Given the description of an element on the screen output the (x, y) to click on. 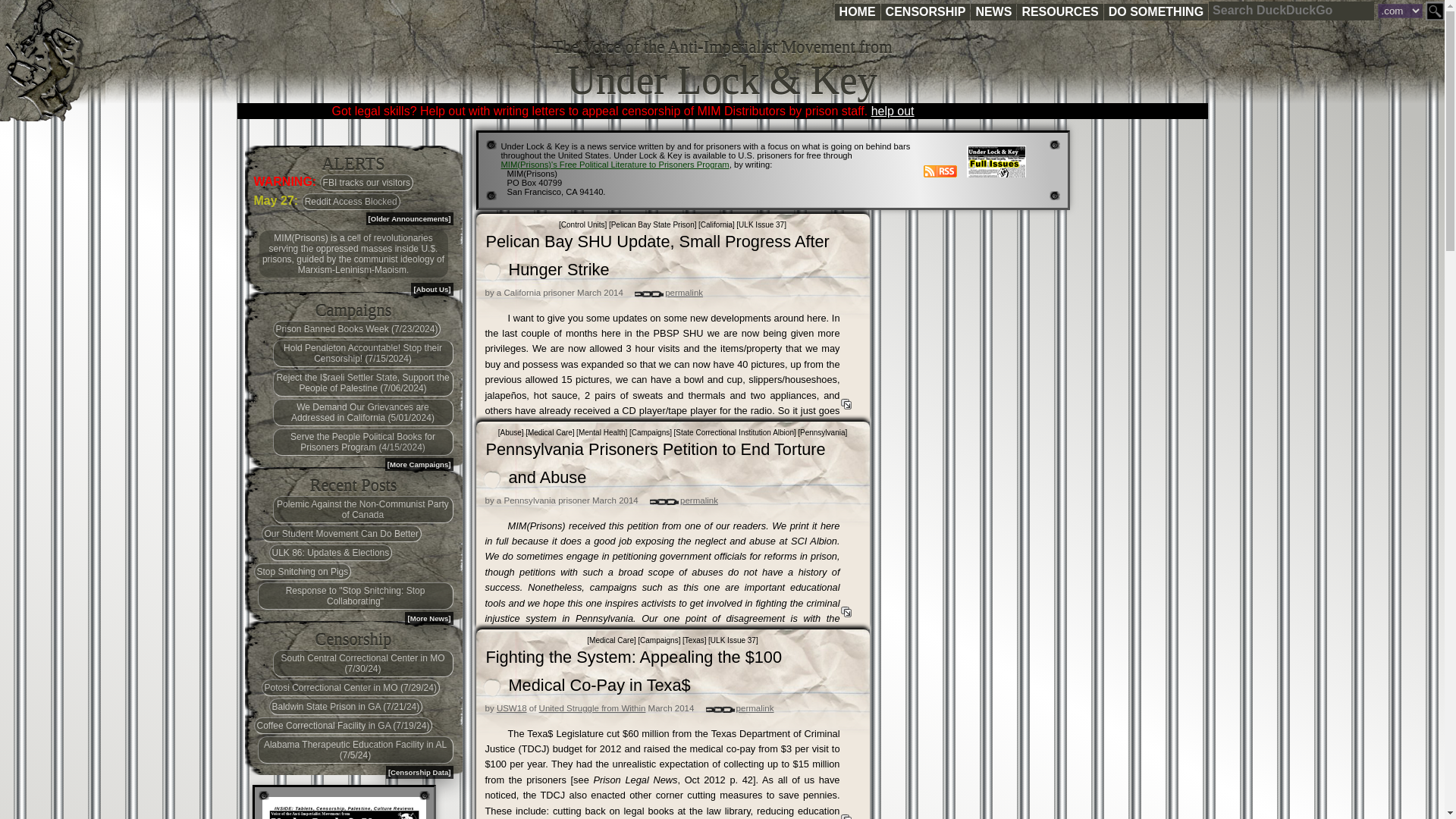
Stop Snitching on Pigs (301, 571)
DO SOMETHING (1155, 12)
Our Student Movement Can Do Better (340, 533)
NEWS (993, 12)
RESOURCES (1059, 12)
HOME (857, 12)
Download Latest Issue (344, 807)
Reddit Access Blocked (350, 201)
help out (892, 110)
Response to "Stop Snitching: Stop Collaborating" (354, 595)
